Given the description of an element on the screen output the (x, y) to click on. 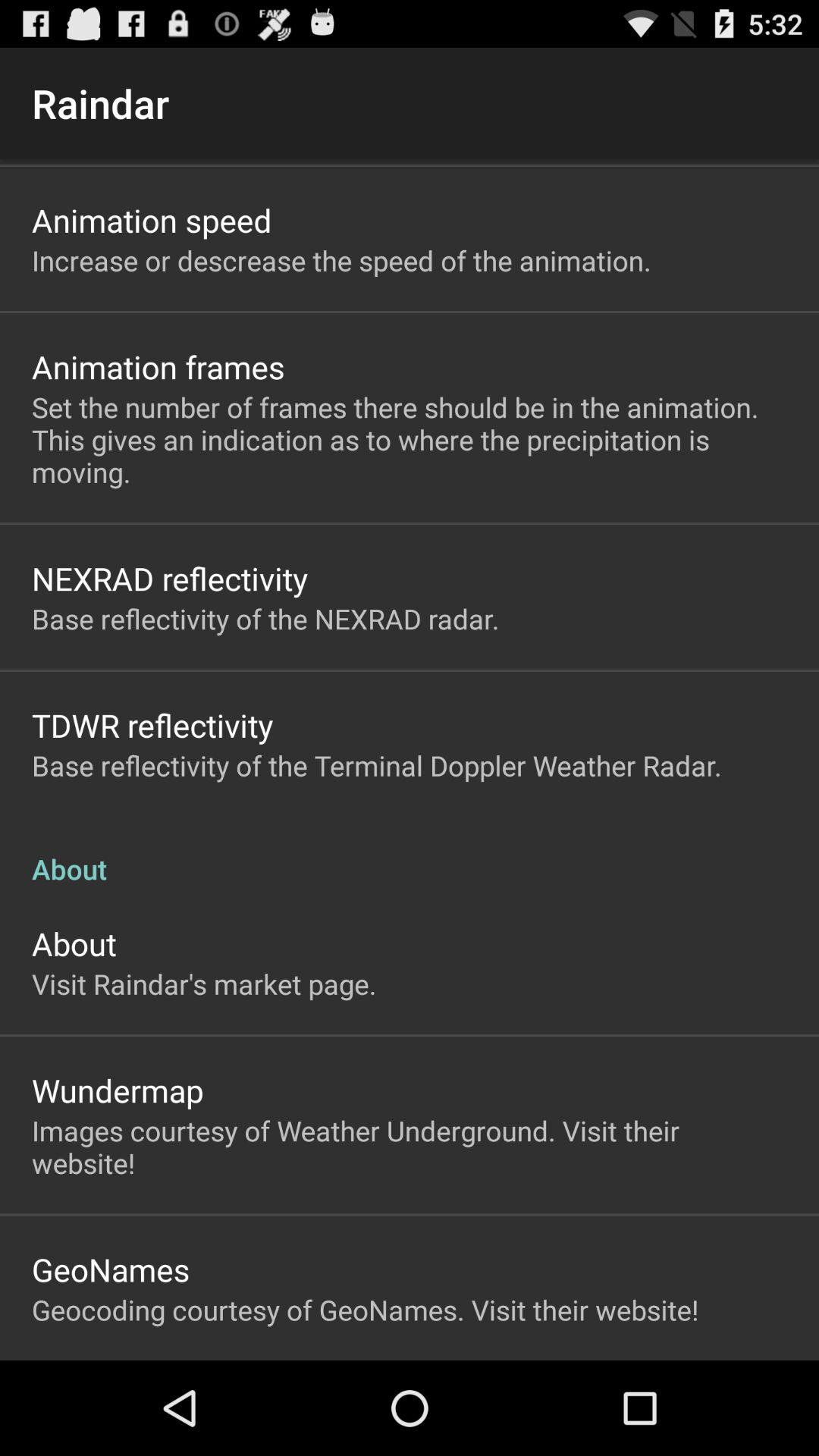
open item below animation frames (409, 439)
